Given the description of an element on the screen output the (x, y) to click on. 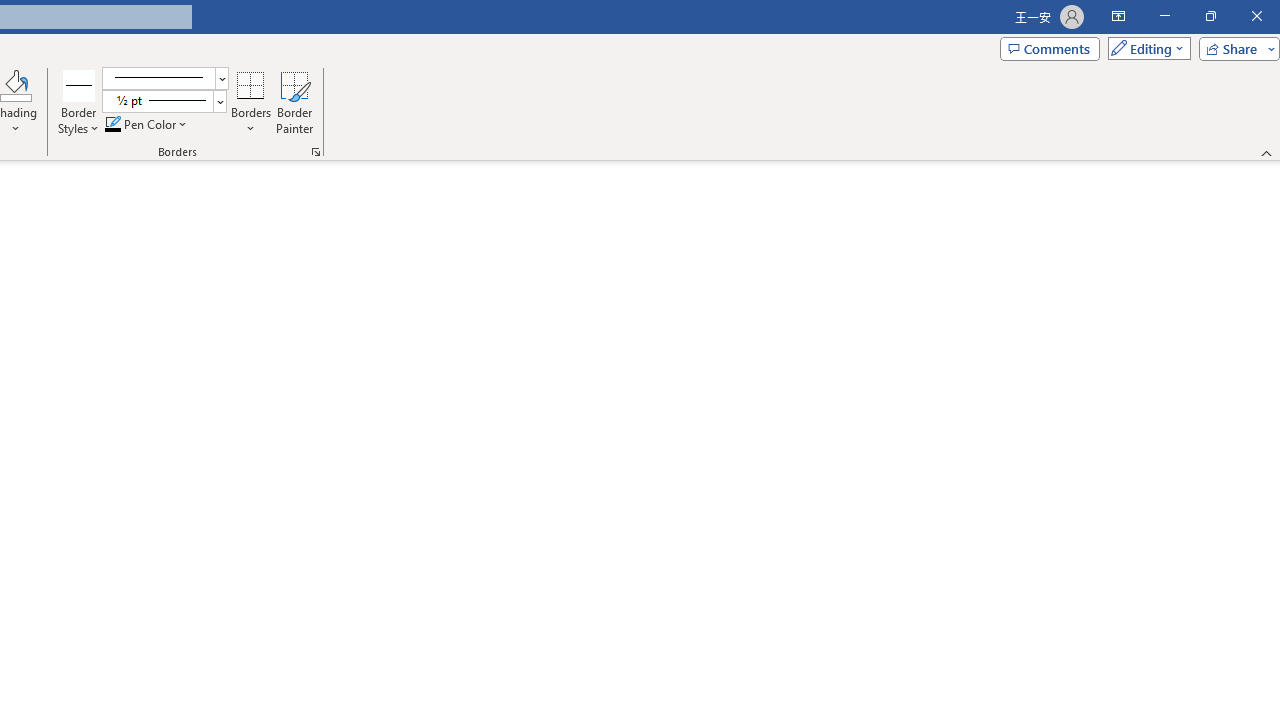
Pen Weight (164, 101)
Borders and Shading... (315, 151)
Editing (1144, 47)
Border Painter (294, 102)
Border Styles (79, 102)
Pen Style (165, 78)
Pen Color (147, 124)
